Given the description of an element on the screen output the (x, y) to click on. 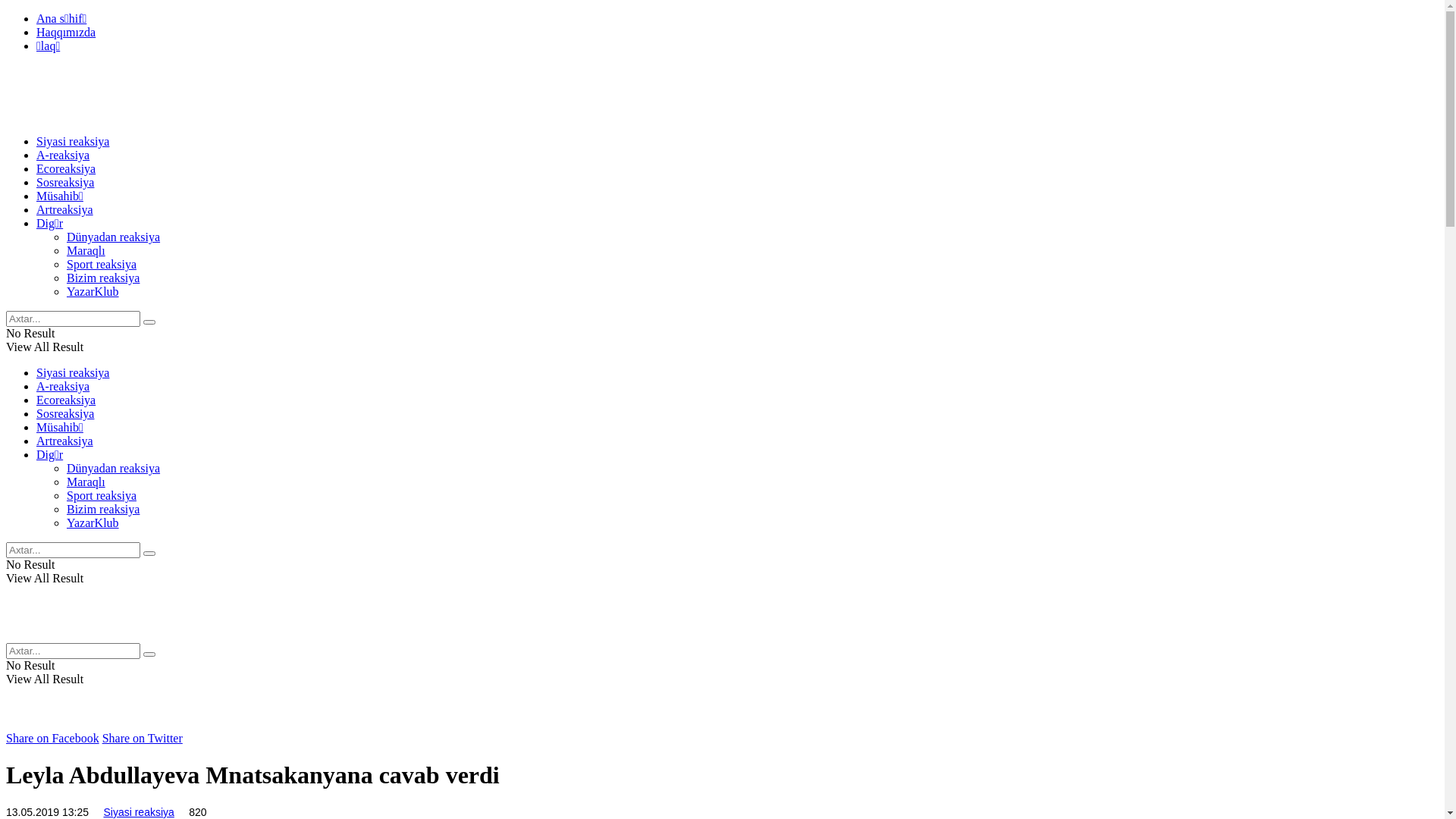
Siyasi reaksiya Element type: text (72, 140)
Siyasi reaksiya Element type: text (72, 372)
A-reaksiya Element type: text (62, 385)
Sosreaksiya Element type: text (65, 413)
Sosreaksiya Element type: text (65, 181)
Share on Facebook Element type: text (52, 737)
Ecoreaksiya Element type: text (65, 168)
Bizim reaksiya Element type: text (102, 277)
Siyasi reaksiya Element type: text (138, 812)
Artreaksiya Element type: text (64, 440)
Artreaksiya Element type: text (64, 209)
Sport reaksiya Element type: text (101, 495)
Bizim reaksiya Element type: text (102, 508)
Share on Twitter Element type: text (142, 737)
YazarKlub Element type: text (92, 291)
Sport reaksiya Element type: text (101, 263)
YazarKlub Element type: text (92, 522)
Ecoreaksiya Element type: text (65, 399)
A-reaksiya Element type: text (62, 154)
